Given the description of an element on the screen output the (x, y) to click on. 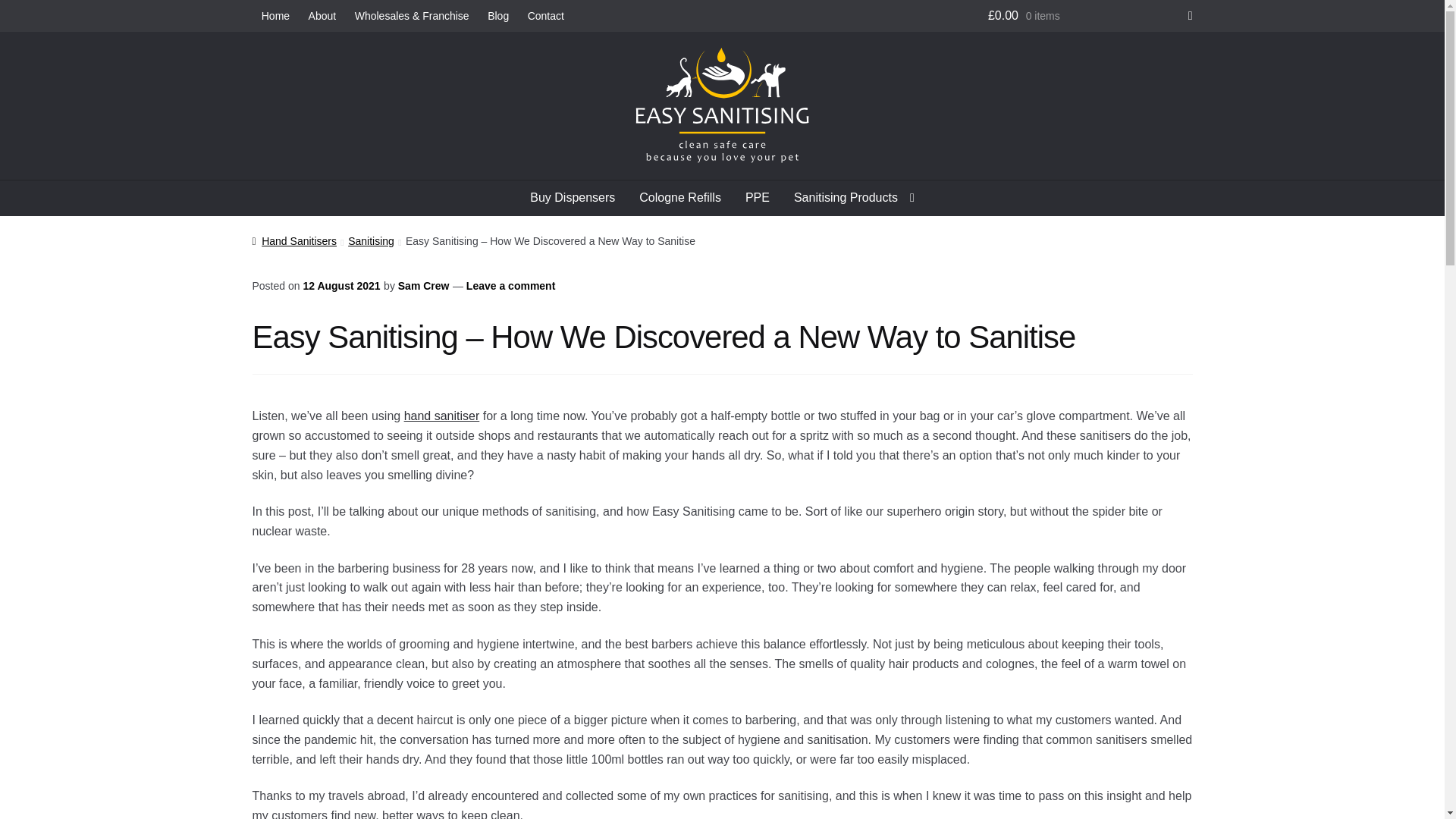
Cologne Refills (680, 197)
Home (274, 15)
Leave a comment (510, 285)
hand sanitiser (442, 415)
PPE (757, 197)
About (321, 15)
Buy Dispensers (572, 197)
Blog (498, 15)
Sam Crew (423, 285)
Hand Sanitisers (293, 241)
Sanitising (370, 241)
Contact (545, 15)
12 August 2021 (341, 285)
Sanitising Products (853, 197)
